Given the description of an element on the screen output the (x, y) to click on. 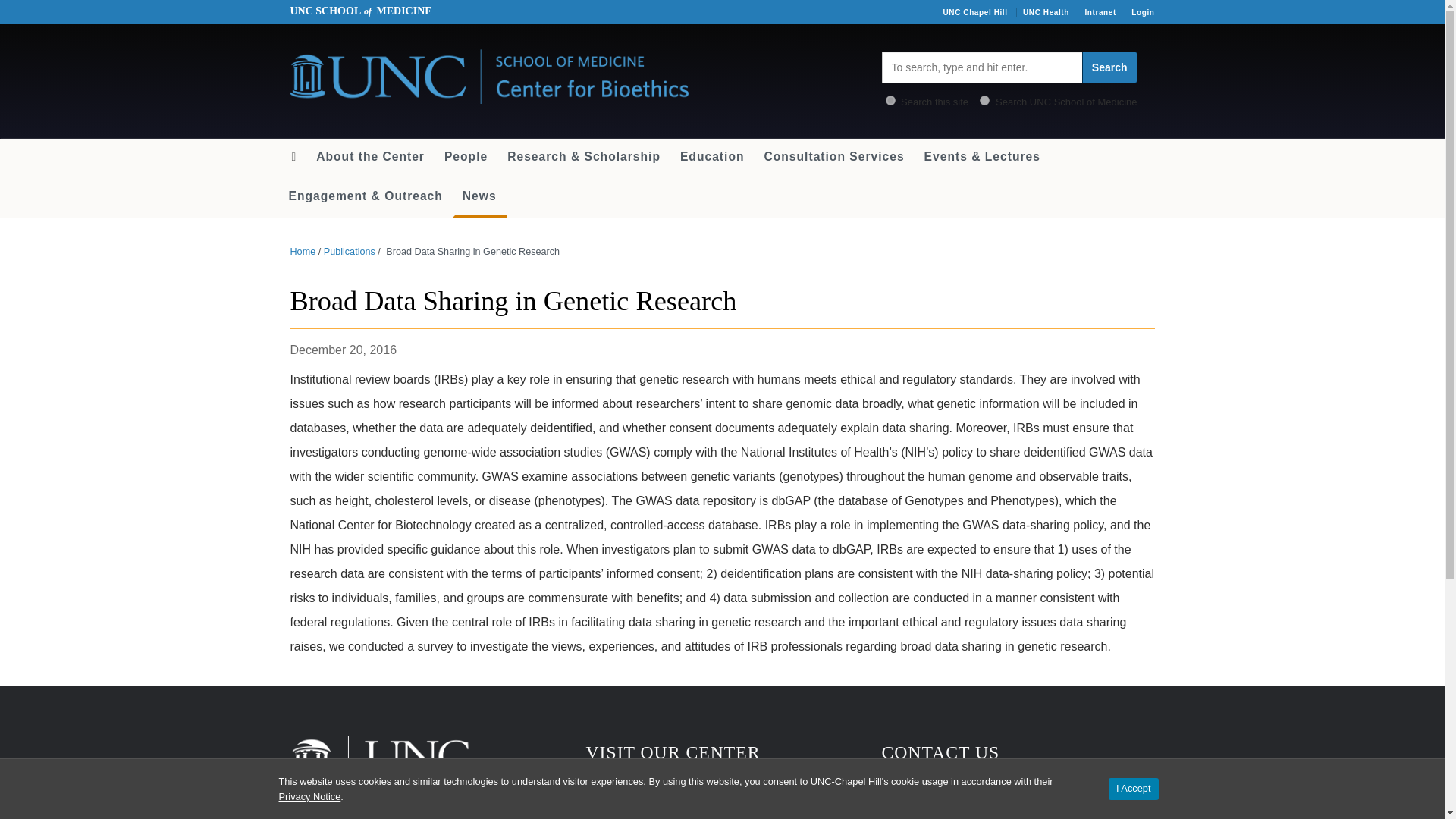
UNC SCHOOL of MEDICINE (359, 11)
gcs (984, 100)
Consultation Services (834, 156)
Home (293, 156)
News (479, 197)
Education (711, 156)
Home (302, 251)
People (465, 156)
I Accept (1133, 789)
Login (1142, 12)
UNC Health (1045, 12)
About the Center (369, 156)
Site Admin Only (1142, 12)
Subscribe Now (929, 788)
wp (890, 100)
